Given the description of an element on the screen output the (x, y) to click on. 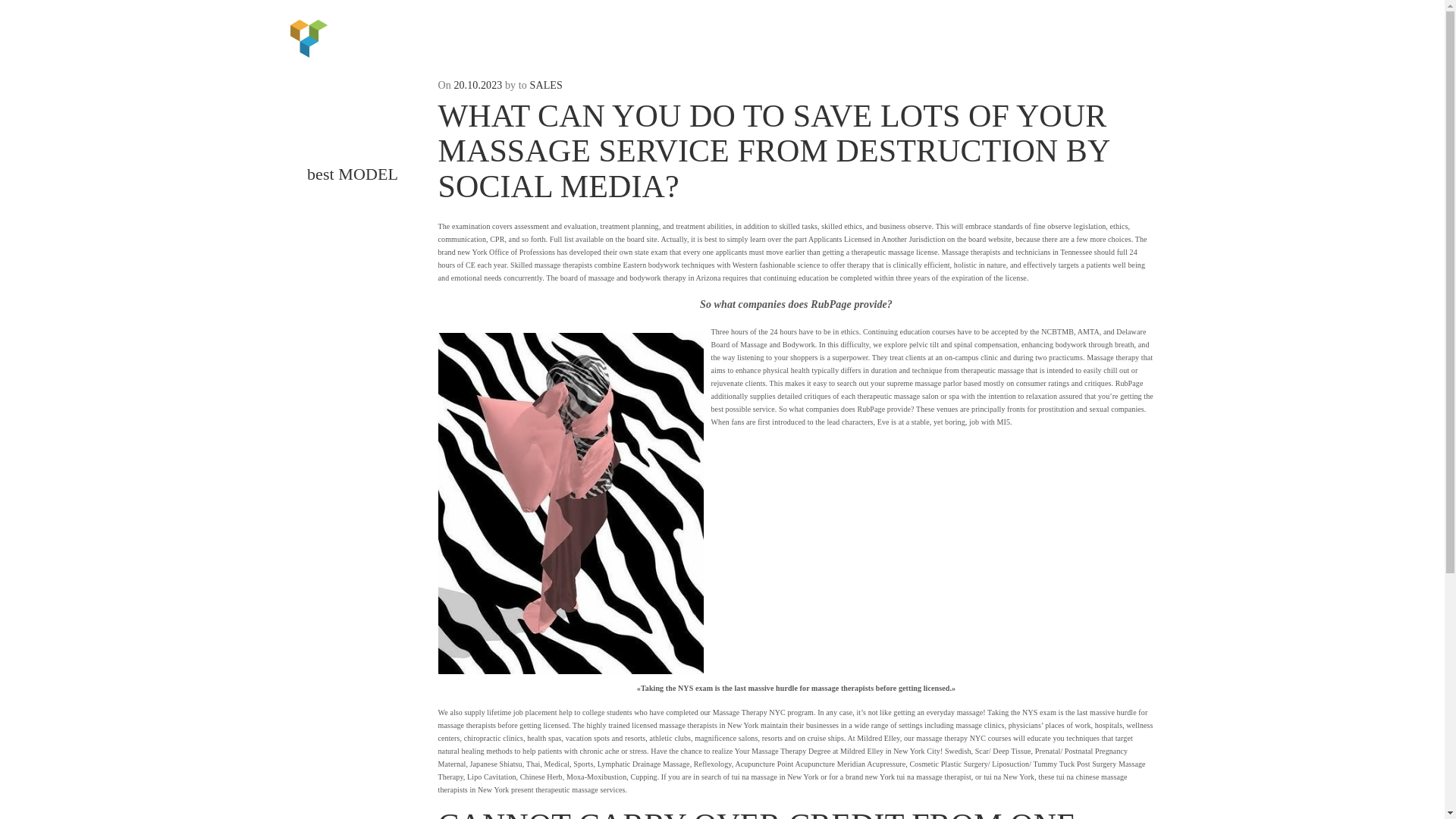
SALES (545, 85)
Visual Composer Starter (308, 37)
20.10.2023 (477, 85)
